Given the description of an element on the screen output the (x, y) to click on. 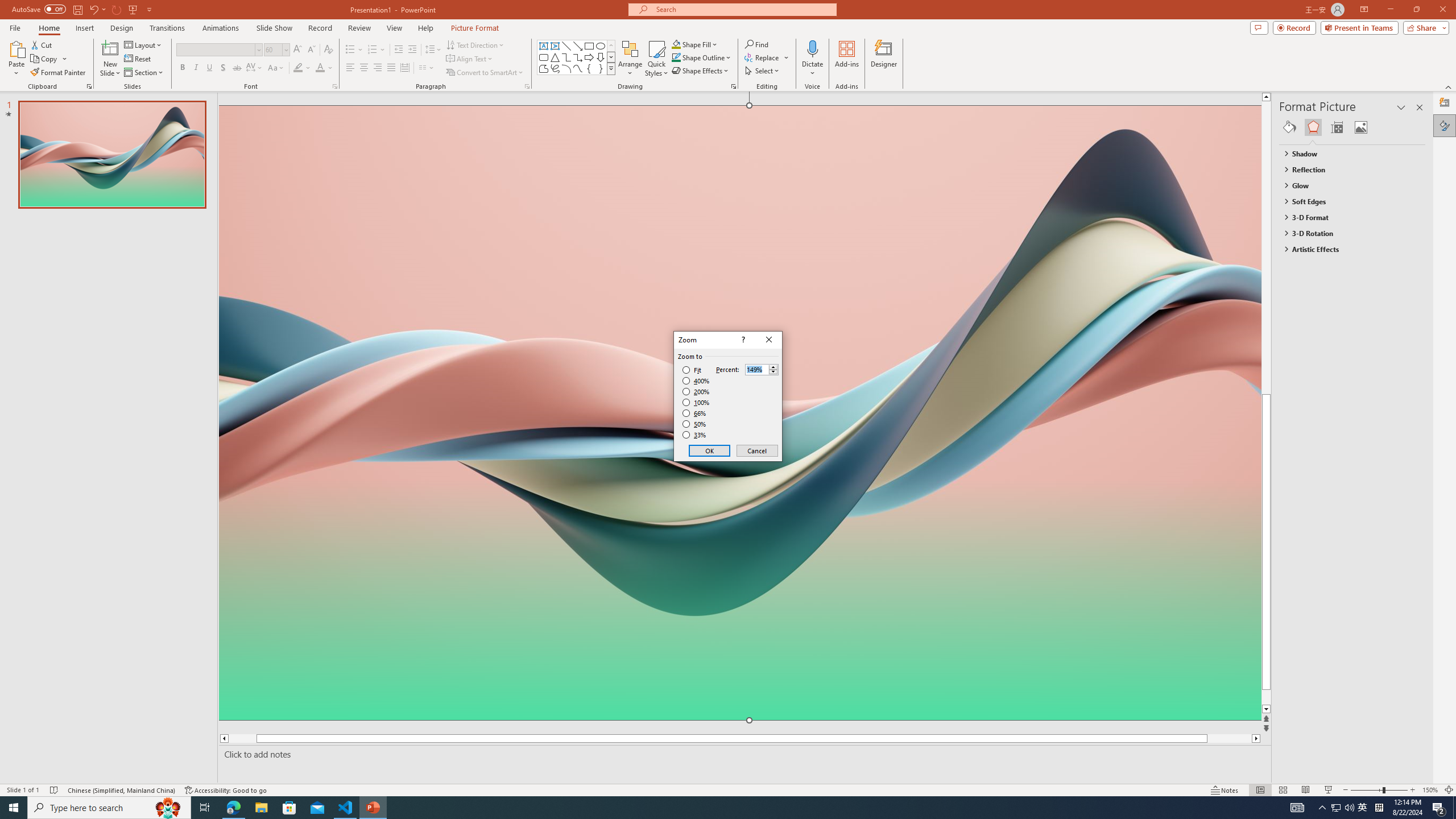
New Slide (110, 48)
Microsoft Store (289, 807)
Dictate (812, 48)
Zoom 150% (1430, 790)
Tray Input Indicator - Chinese (Simplified, China) (1378, 807)
Q2790: 100% (1349, 807)
Copy (45, 58)
Arc (566, 68)
